Given the description of an element on the screen output the (x, y) to click on. 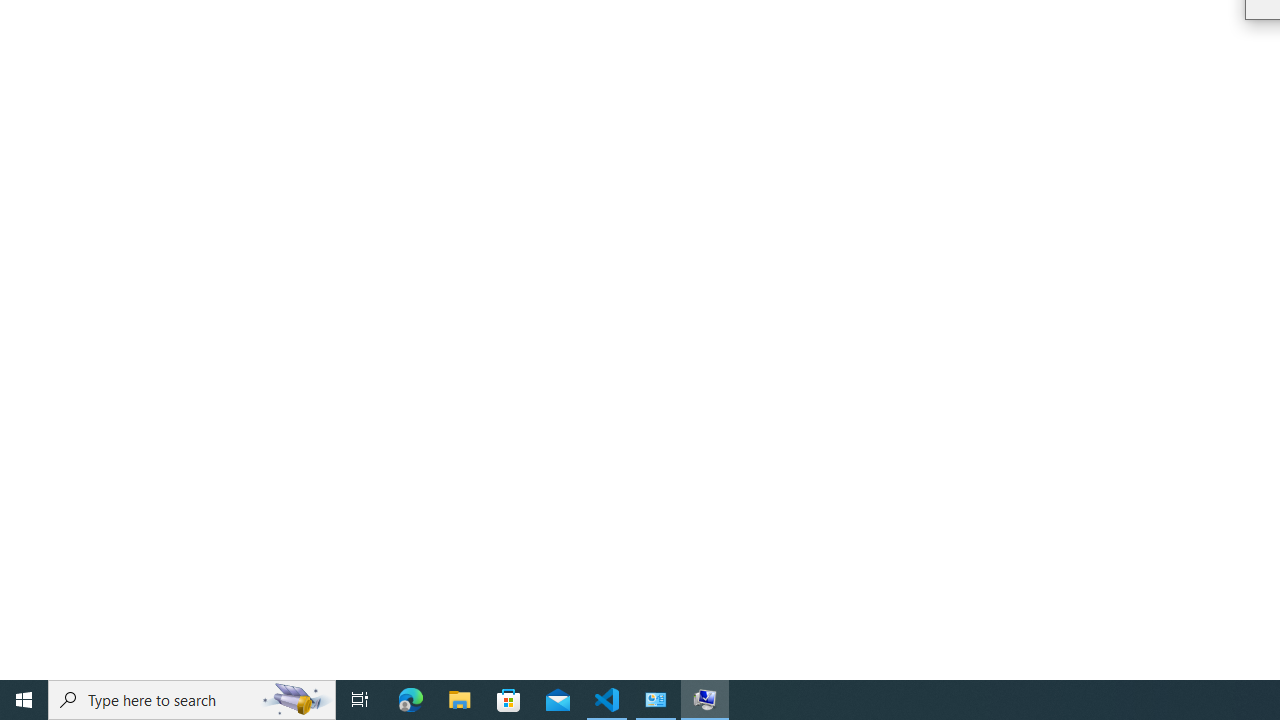
Control Panel - 1 running window (656, 699)
System Remote Settings - 1 running window (704, 699)
